Given the description of an element on the screen output the (x, y) to click on. 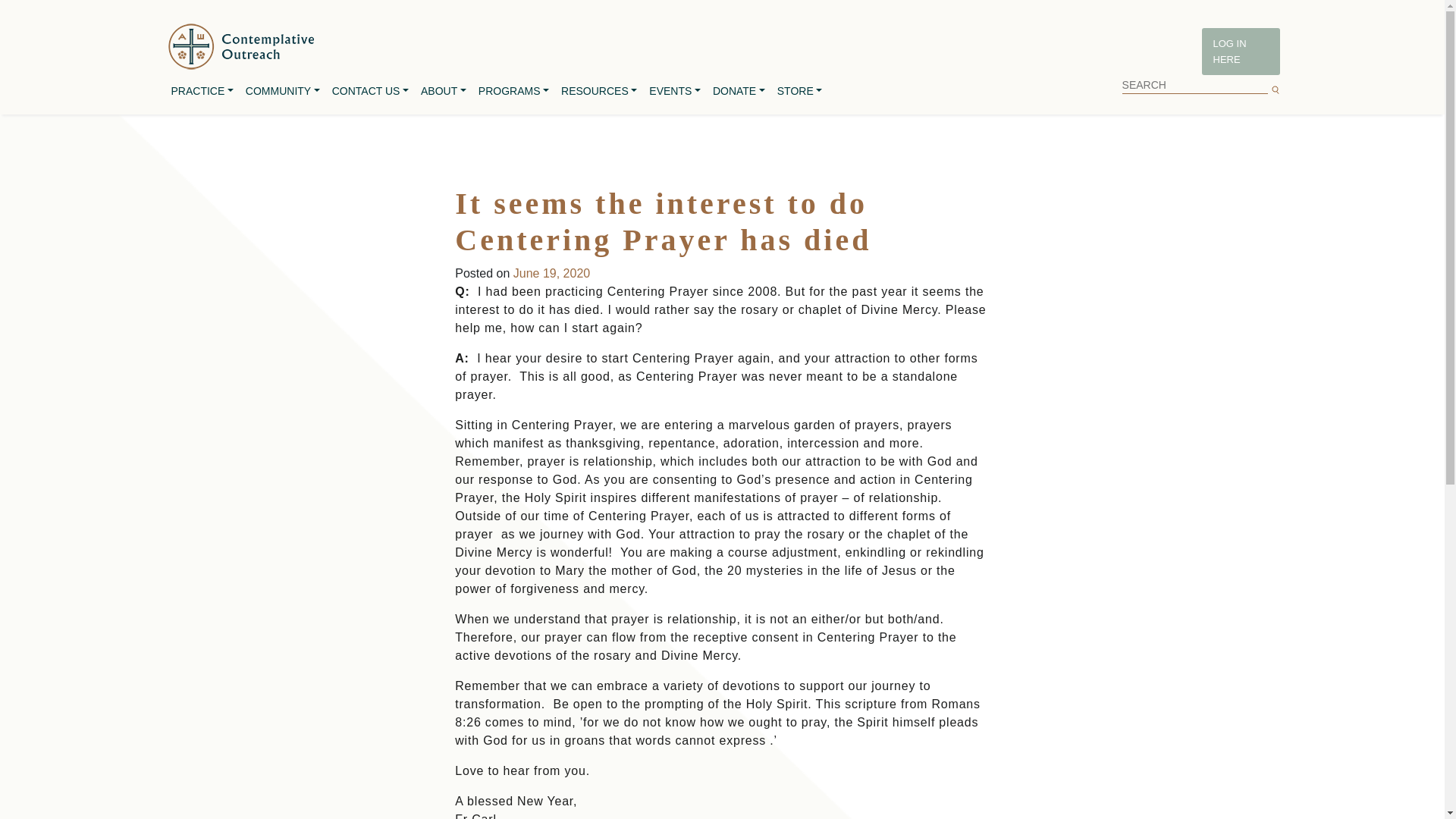
CONTACT US (370, 90)
PROGRAMS (512, 90)
PRACTICE (202, 90)
Practice (202, 90)
Contact Us (370, 90)
COMMUNITY (283, 90)
Community (283, 90)
ABOUT (442, 90)
